Given the description of an element on the screen output the (x, y) to click on. 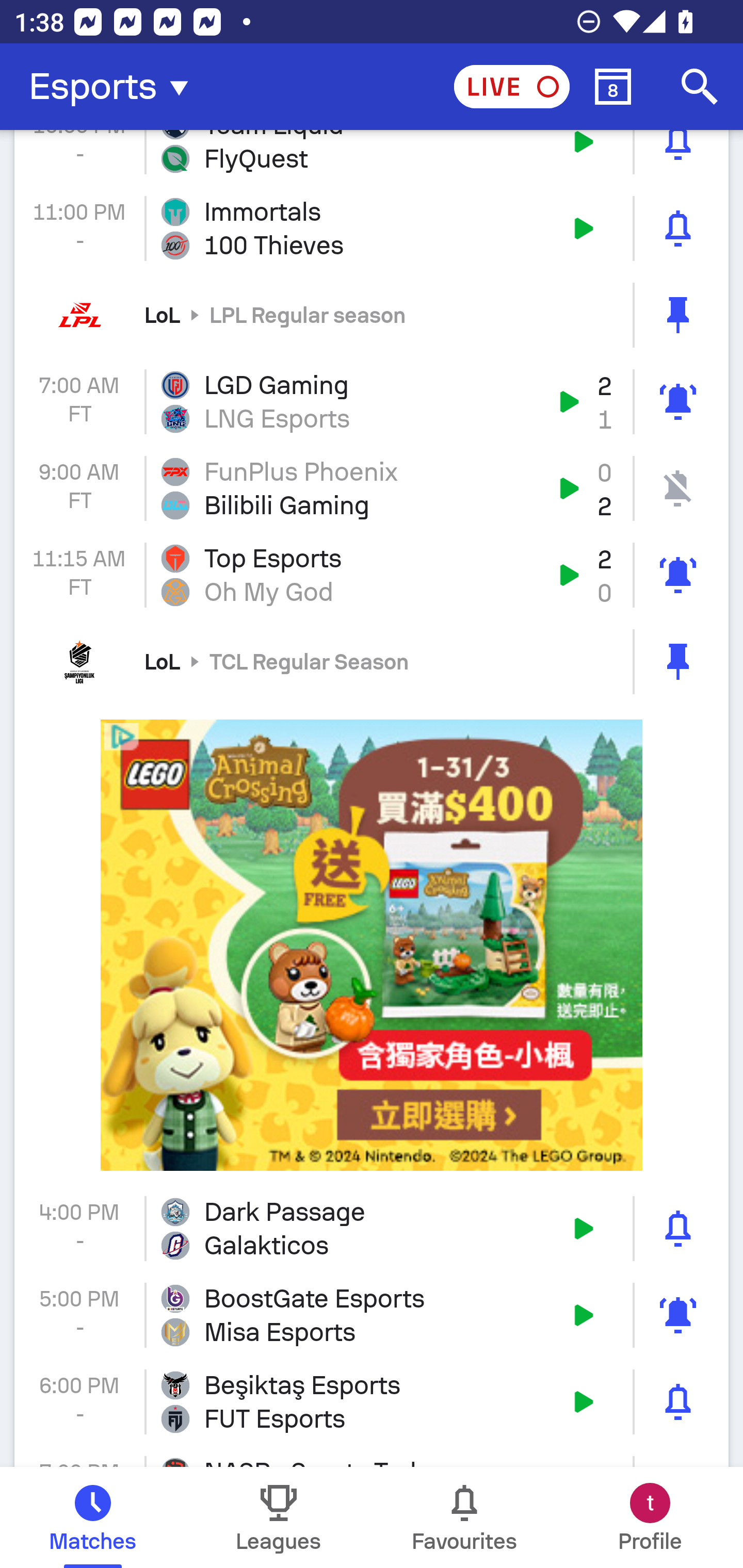
Esports (114, 86)
Calendar (612, 86)
Search (699, 86)
11:00 PM - Immortals 100 Thieves (371, 228)
LoL LPL Regular season (371, 315)
7:00 AM FT LGD Gaming LNG Esports 2 1 (371, 402)
9:00 AM FT FunPlus Phoenix Bilibili Gaming 0 2 (371, 488)
11:15 AM FT Top Esports Oh My God 2 0 (371, 574)
LoL TCL Regular Season (371, 661)
j1n8f1jr_300x250 (371, 945)
4:00 PM - Dark Passage Galakticos (371, 1228)
5:00 PM - BoostGate Esports Misa Esports (371, 1314)
6:00 PM - Beşiktaş Esports FUT Esports (371, 1401)
Leagues (278, 1517)
Favourites (464, 1517)
Profile (650, 1517)
